Given the description of an element on the screen output the (x, y) to click on. 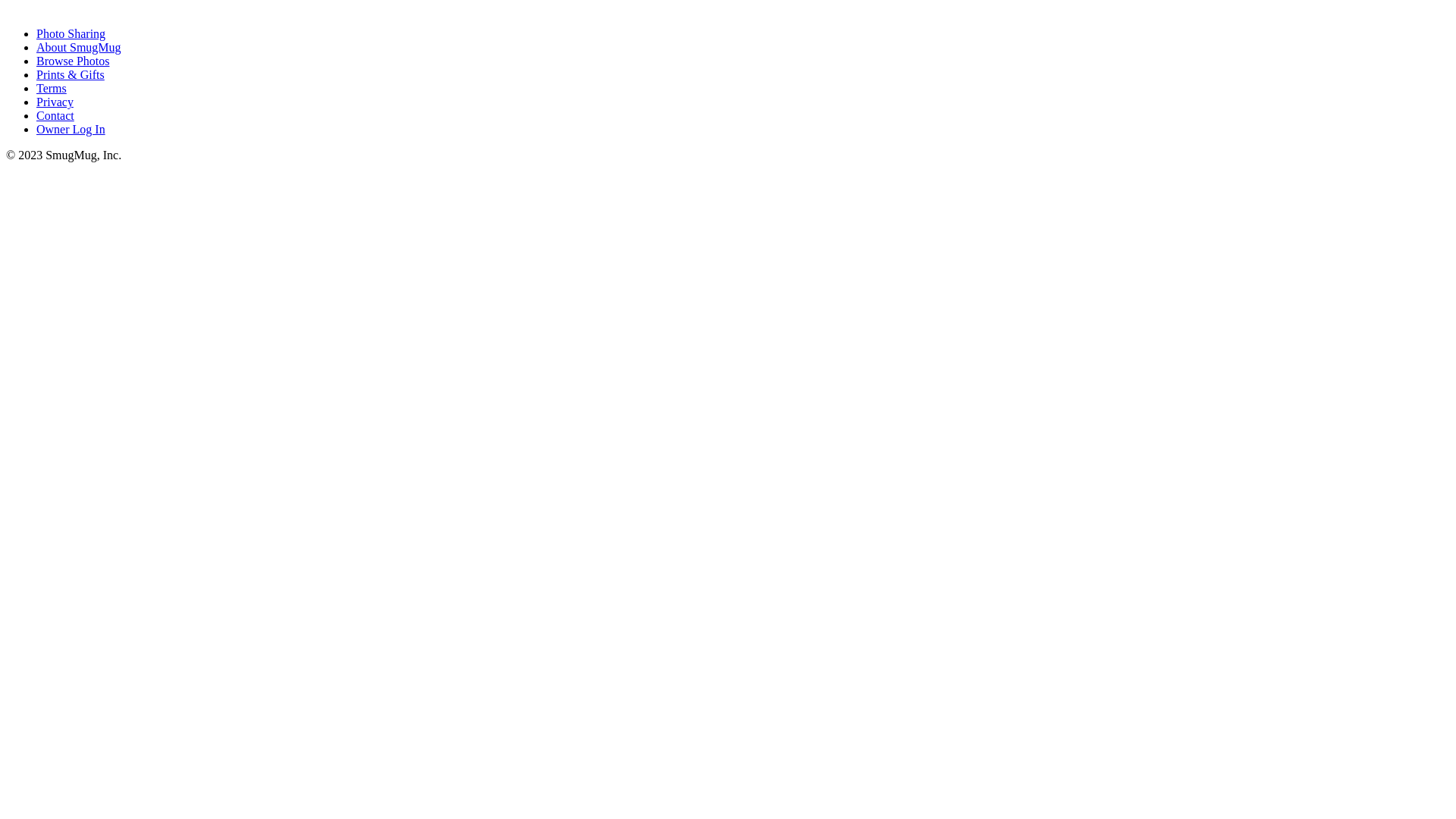
Browse Photos Element type: text (72, 60)
Prints & Gifts Element type: text (70, 74)
Privacy Element type: text (54, 101)
Photo Sharing Element type: text (70, 33)
Terms Element type: text (51, 87)
About SmugMug Element type: text (78, 46)
Owner Log In Element type: text (70, 128)
Contact Element type: text (55, 115)
